Given the description of an element on the screen output the (x, y) to click on. 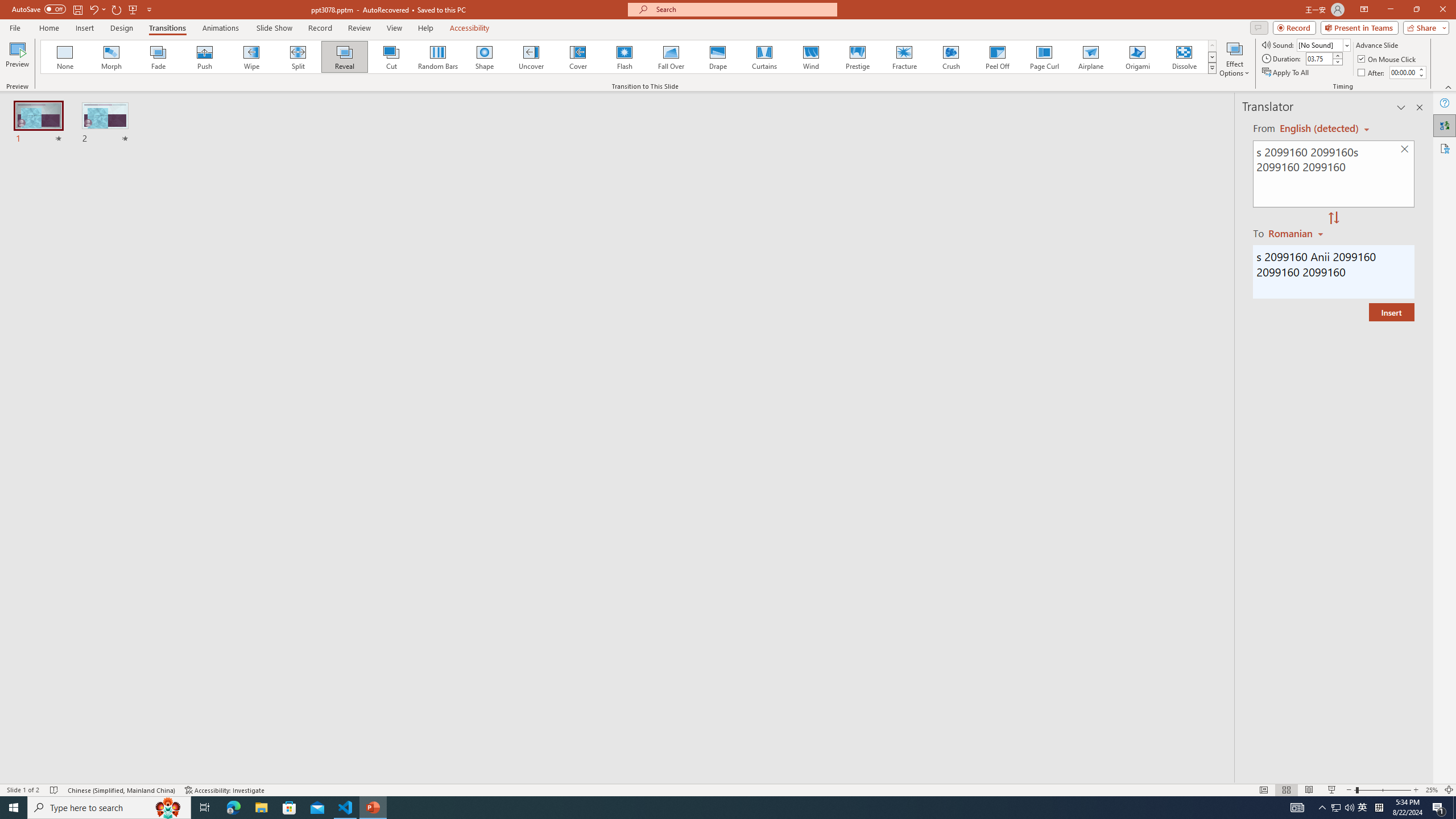
Czech (detected) (1319, 128)
Curtains (764, 56)
Drape (717, 56)
Uncover (531, 56)
